Given the description of an element on the screen output the (x, y) to click on. 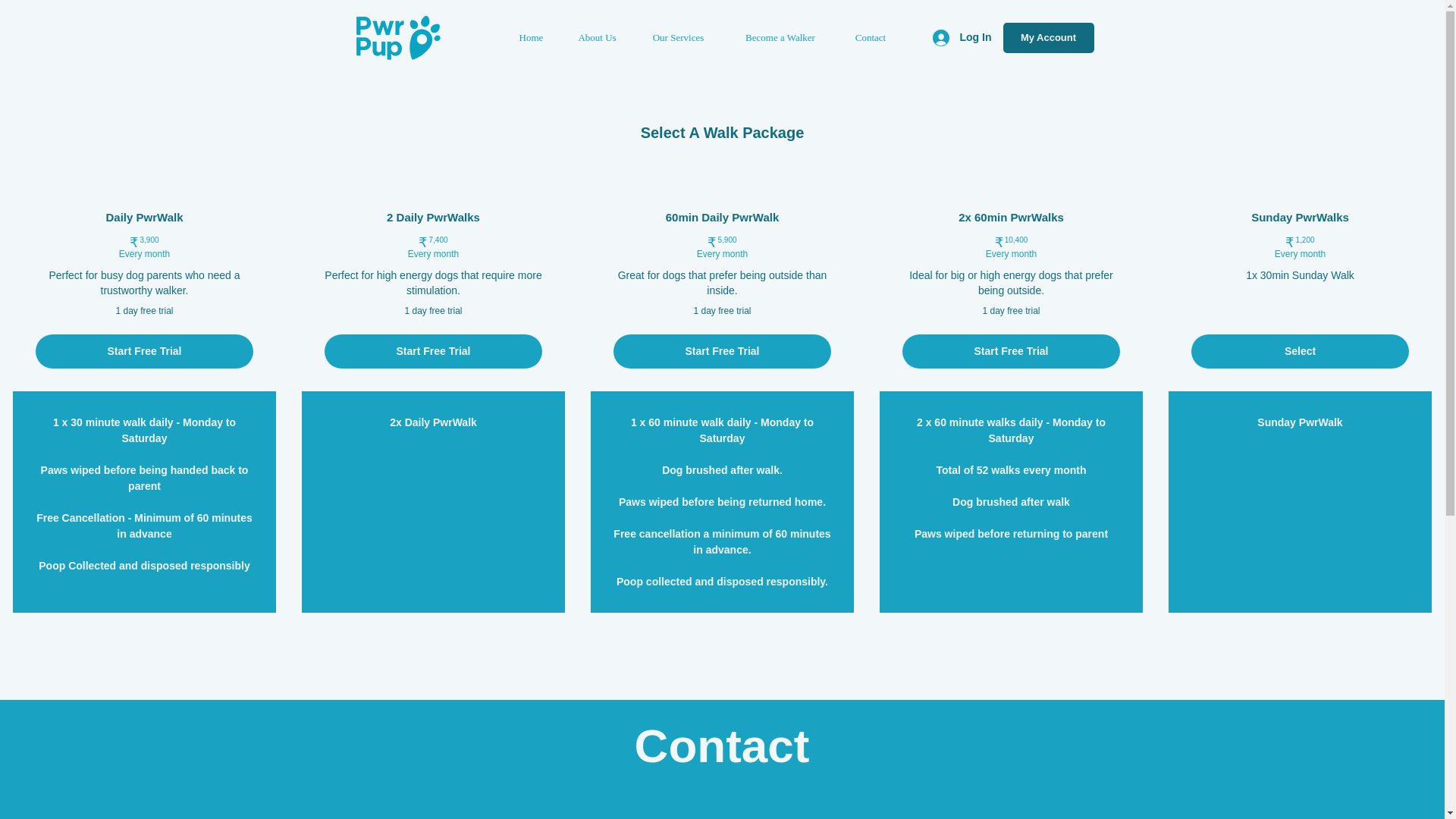
Home (531, 37)
Our Services (678, 37)
Become a Walker (780, 37)
Start Free Trial (432, 350)
Start Free Trial (143, 350)
Select (1300, 350)
Contact (869, 37)
Log In (962, 37)
Start Free Trial (1010, 350)
Start Free Trial (721, 350)
About Us (596, 37)
My Account (1048, 37)
